Given the description of an element on the screen output the (x, y) to click on. 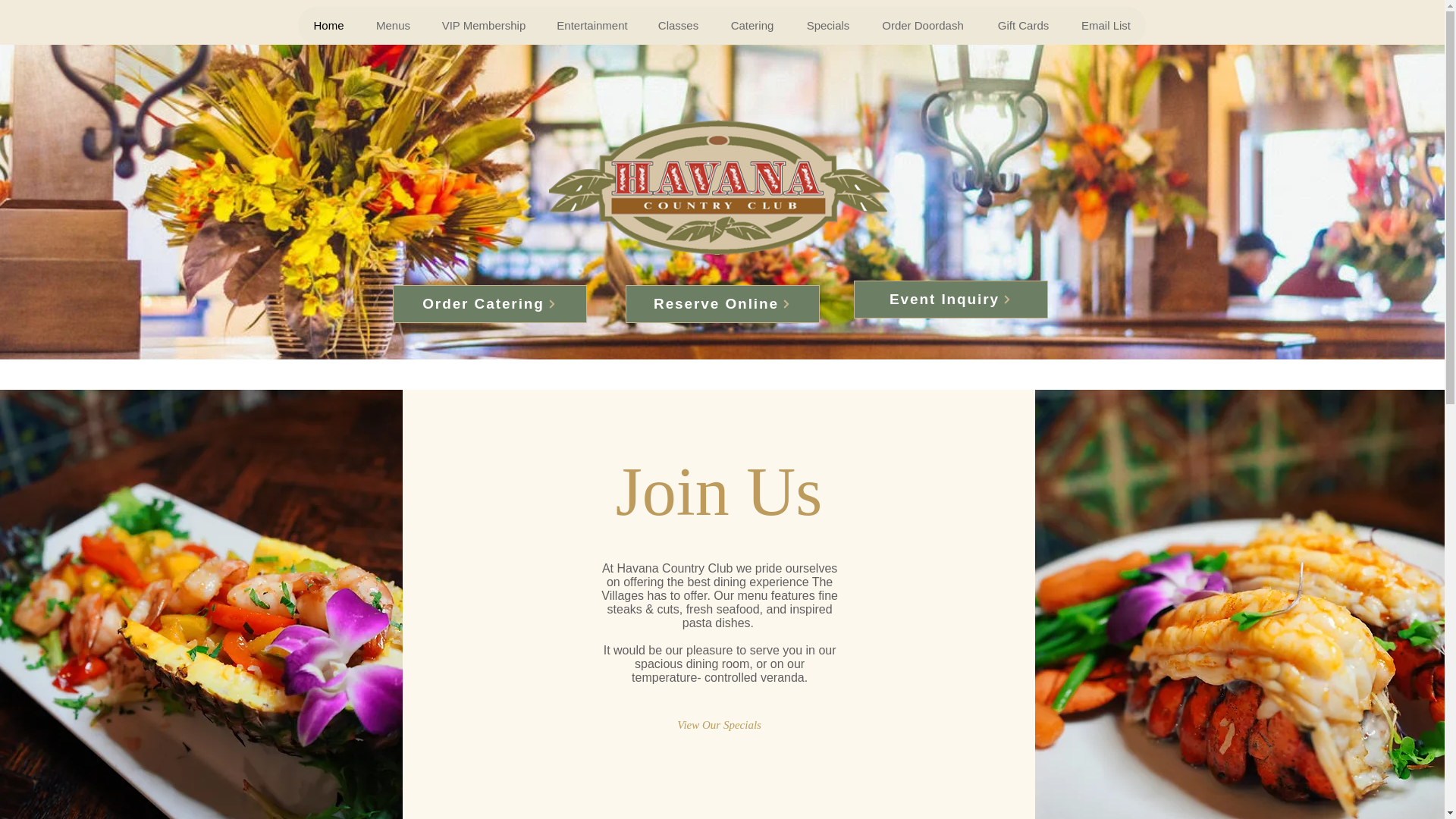
Order Doordash (921, 25)
Home (328, 25)
Entertainment (592, 25)
Reserve Online (721, 303)
Email List (1105, 25)
Event Inquiry (950, 299)
View Our Specials (719, 724)
Order Catering (489, 303)
Menus (392, 25)
Gift Cards (1022, 25)
Classes (678, 25)
Specials (827, 25)
